Given the description of an element on the screen output the (x, y) to click on. 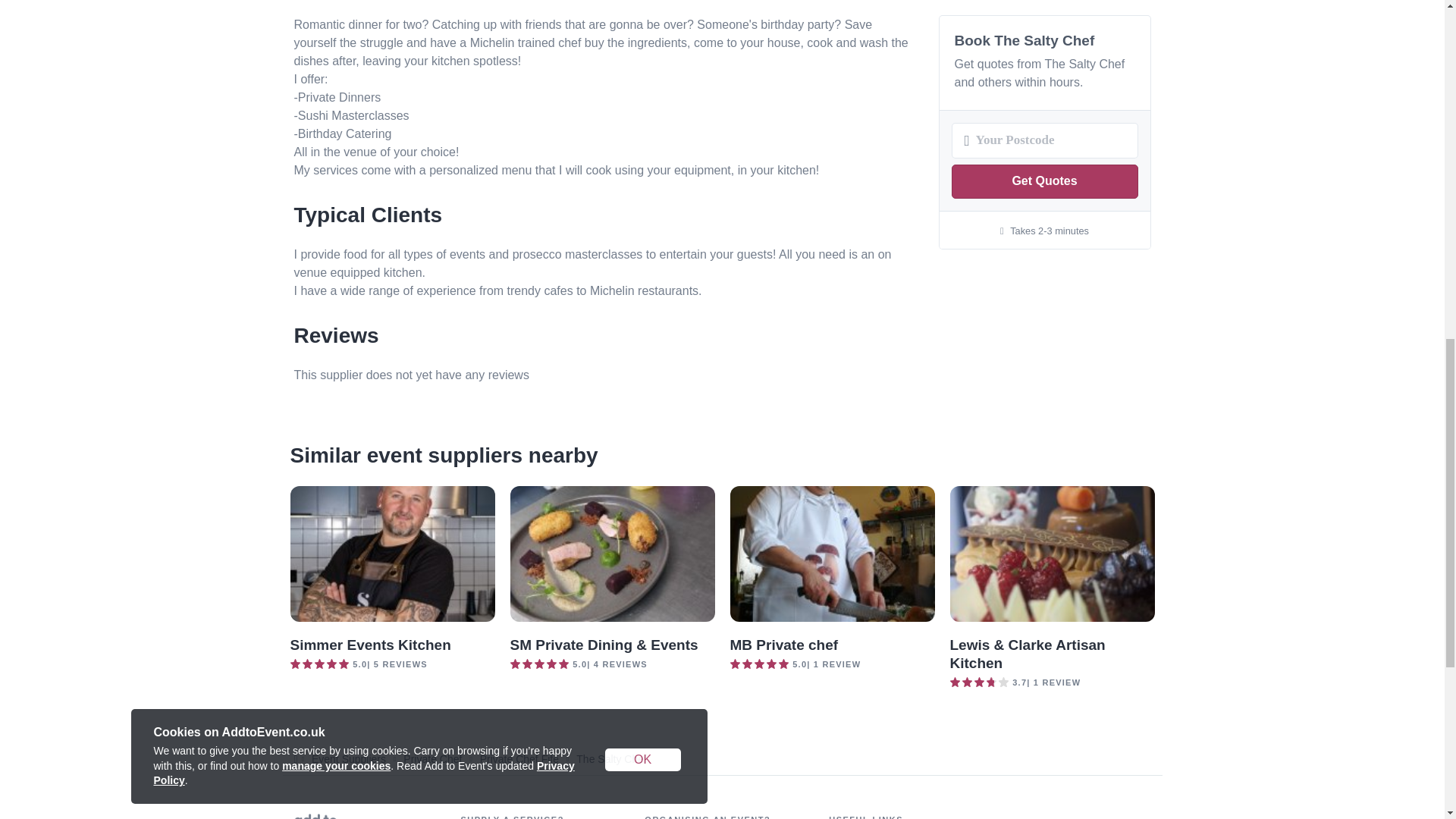
Home (335, 816)
